Given the description of an element on the screen output the (x, y) to click on. 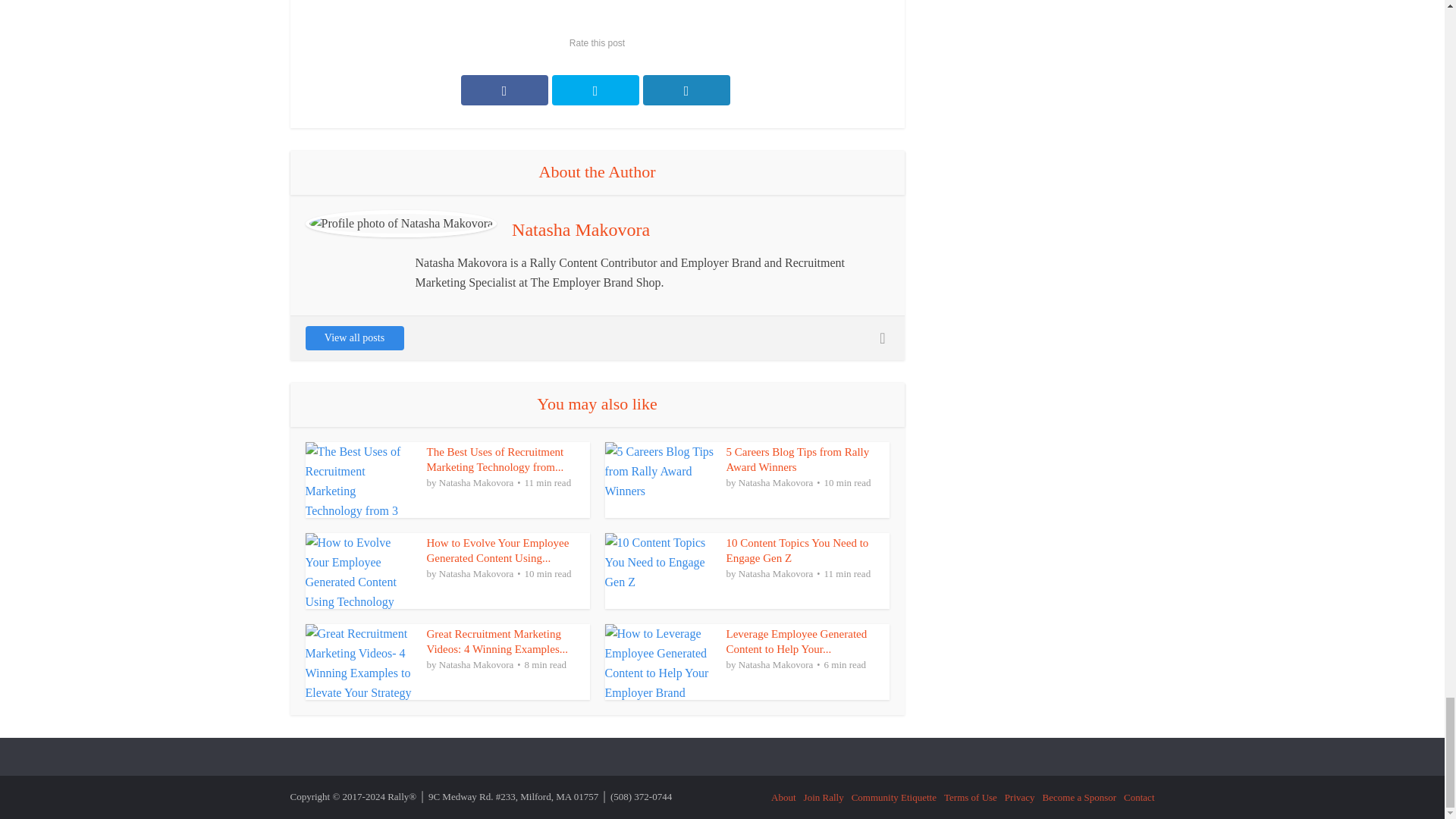
5 Careers Blog Tips from Rally Award Winners (797, 459)
10 Content Topics You Need to Engage Gen Z (797, 550)
